Given the description of an element on the screen output the (x, y) to click on. 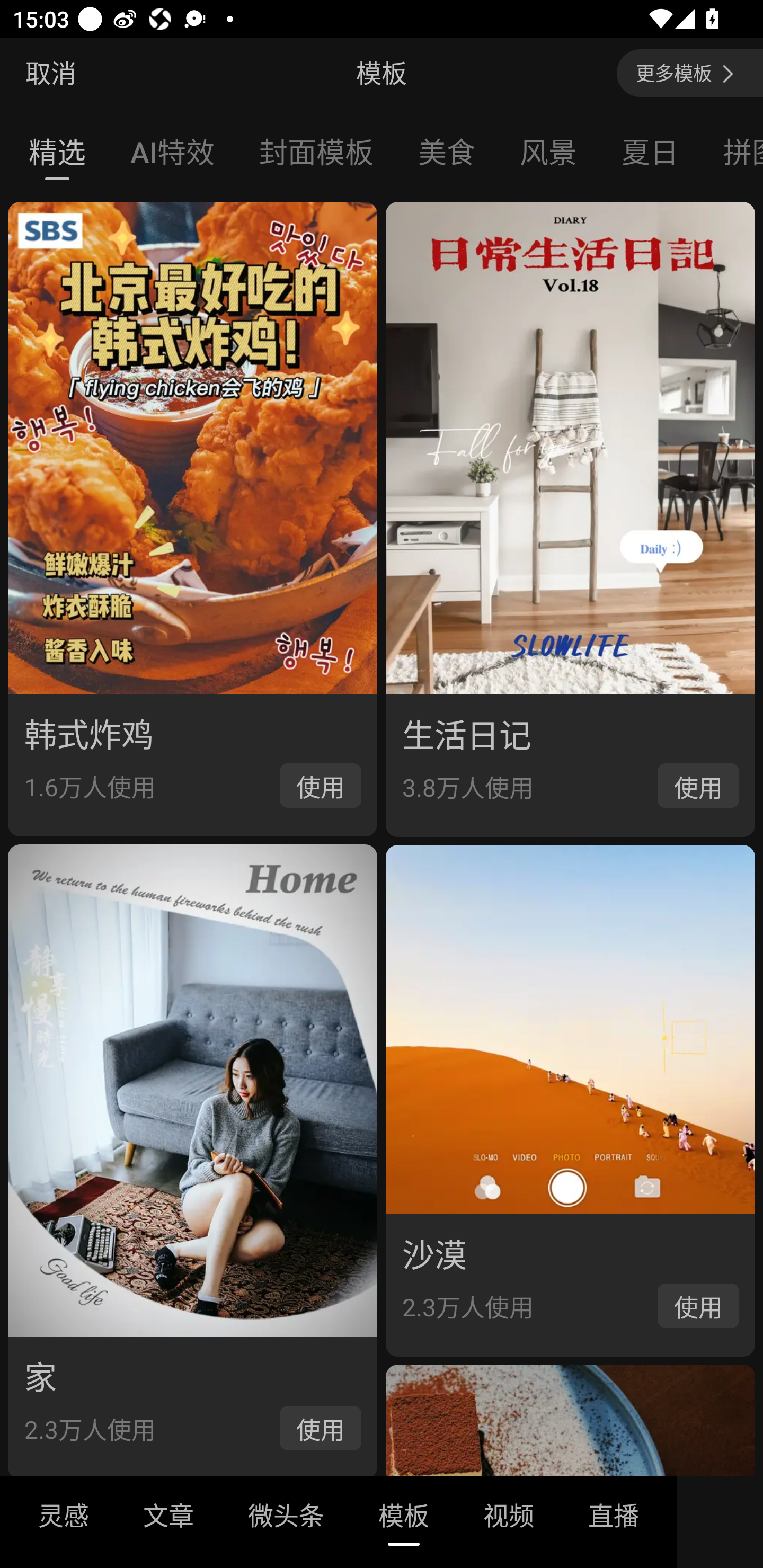
取消 (50, 72)
更多模板 (689, 72)
灵感 (63, 1521)
文章 (168, 1521)
微头条 (285, 1521)
模板 (403, 1521)
视频 (508, 1521)
直播 (613, 1521)
